Given the description of an element on the screen output the (x, y) to click on. 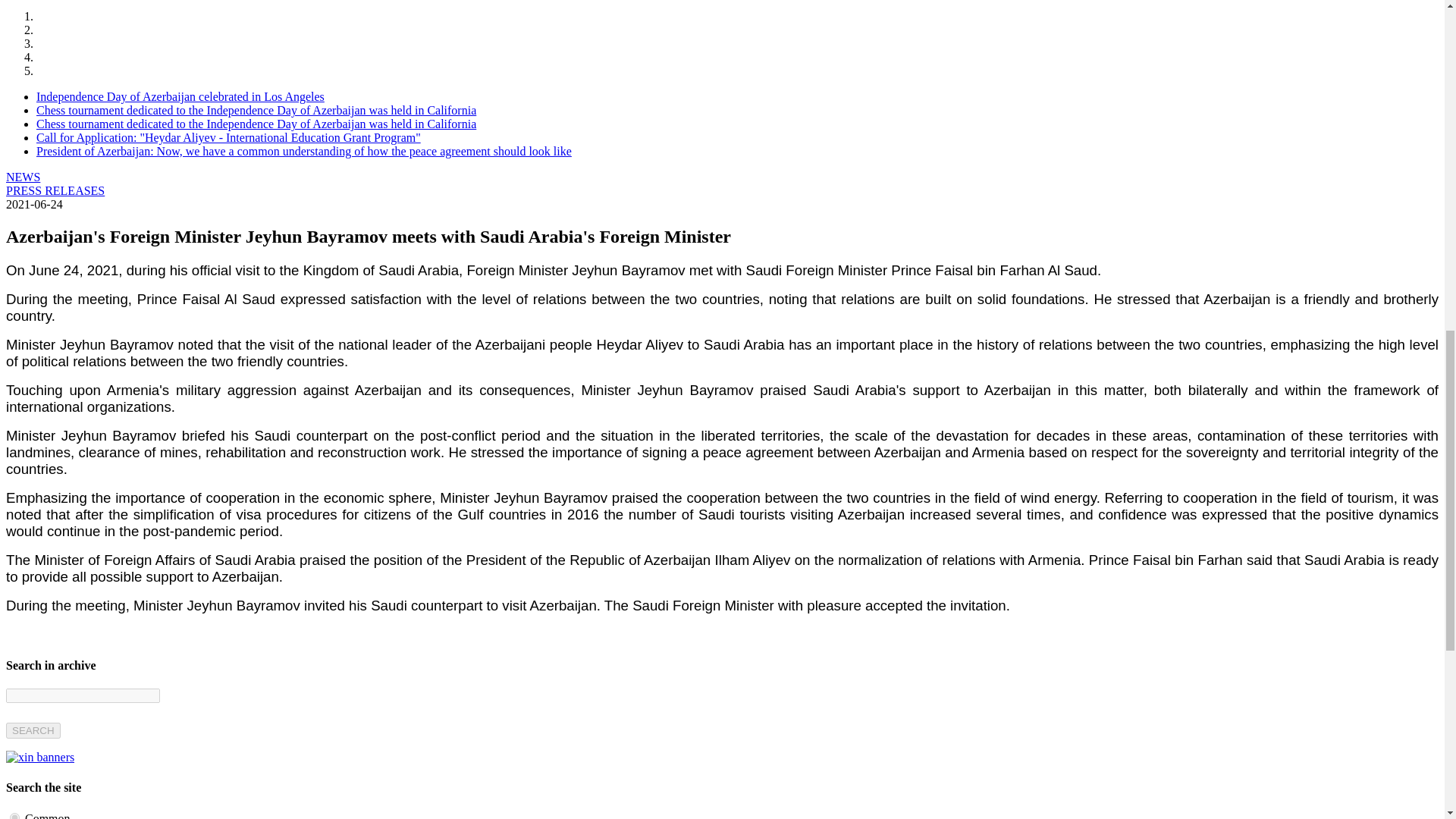
all (15, 816)
